Given the description of an element on the screen output the (x, y) to click on. 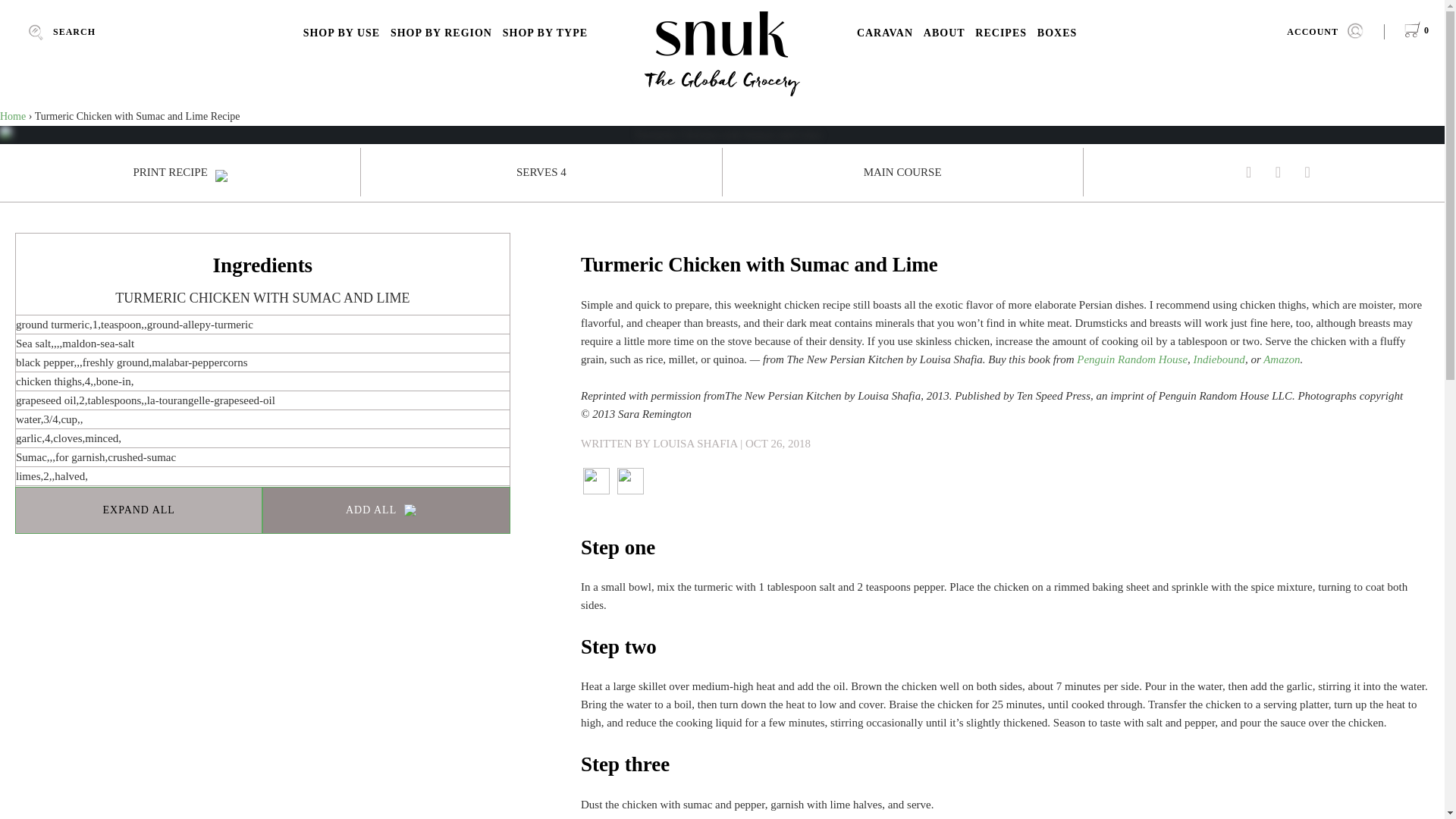
The New Persian Kitchen purchase link (1281, 358)
The New Persian Kitchen purchase link (1132, 358)
Home (13, 116)
Snuk Foods (722, 53)
The New Persian Kitchen purchase link (1218, 358)
SHOP BY USE (341, 33)
